Given the description of an element on the screen output the (x, y) to click on. 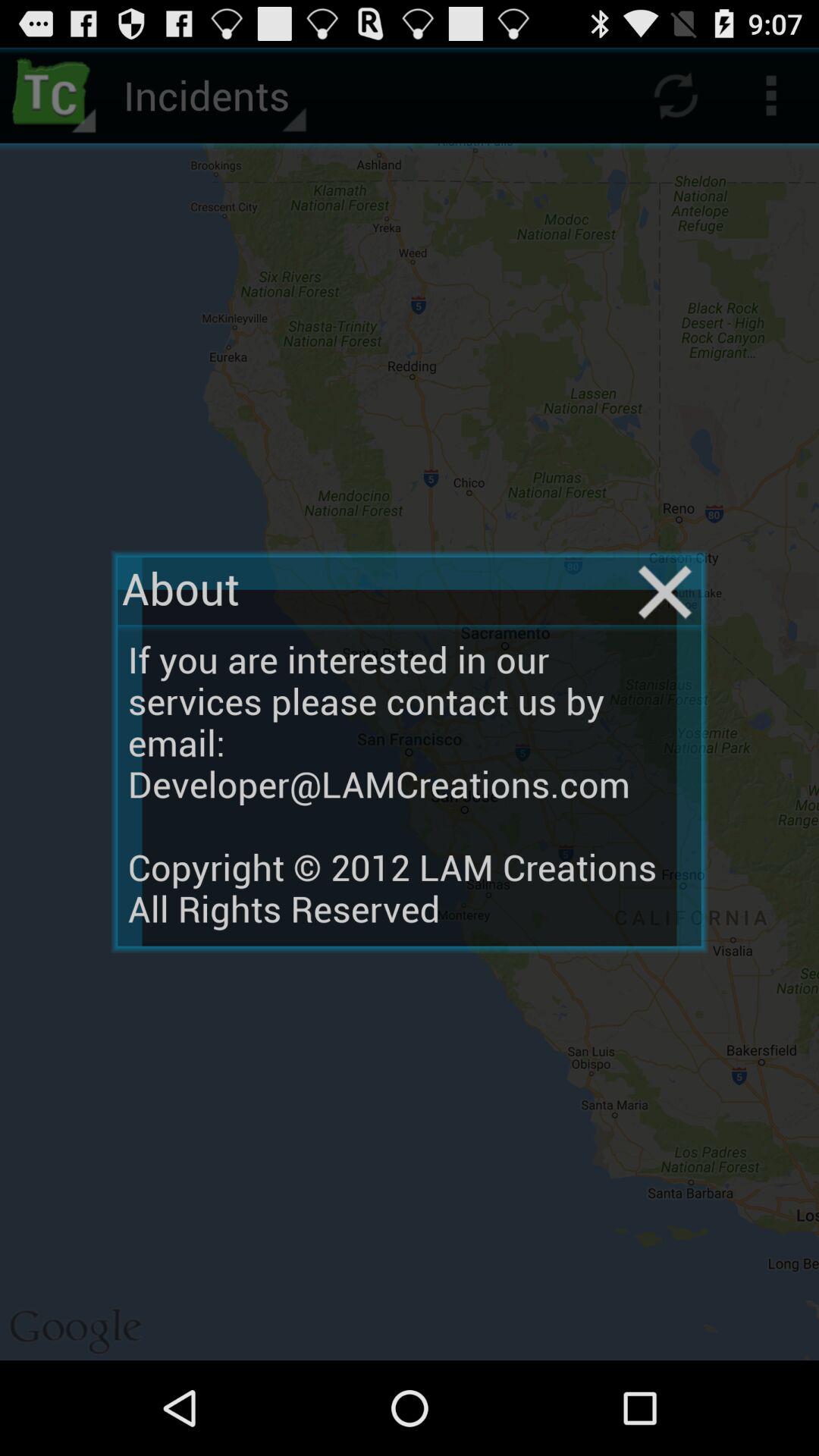
press the incidents app (212, 95)
